Given the description of an element on the screen output the (x, y) to click on. 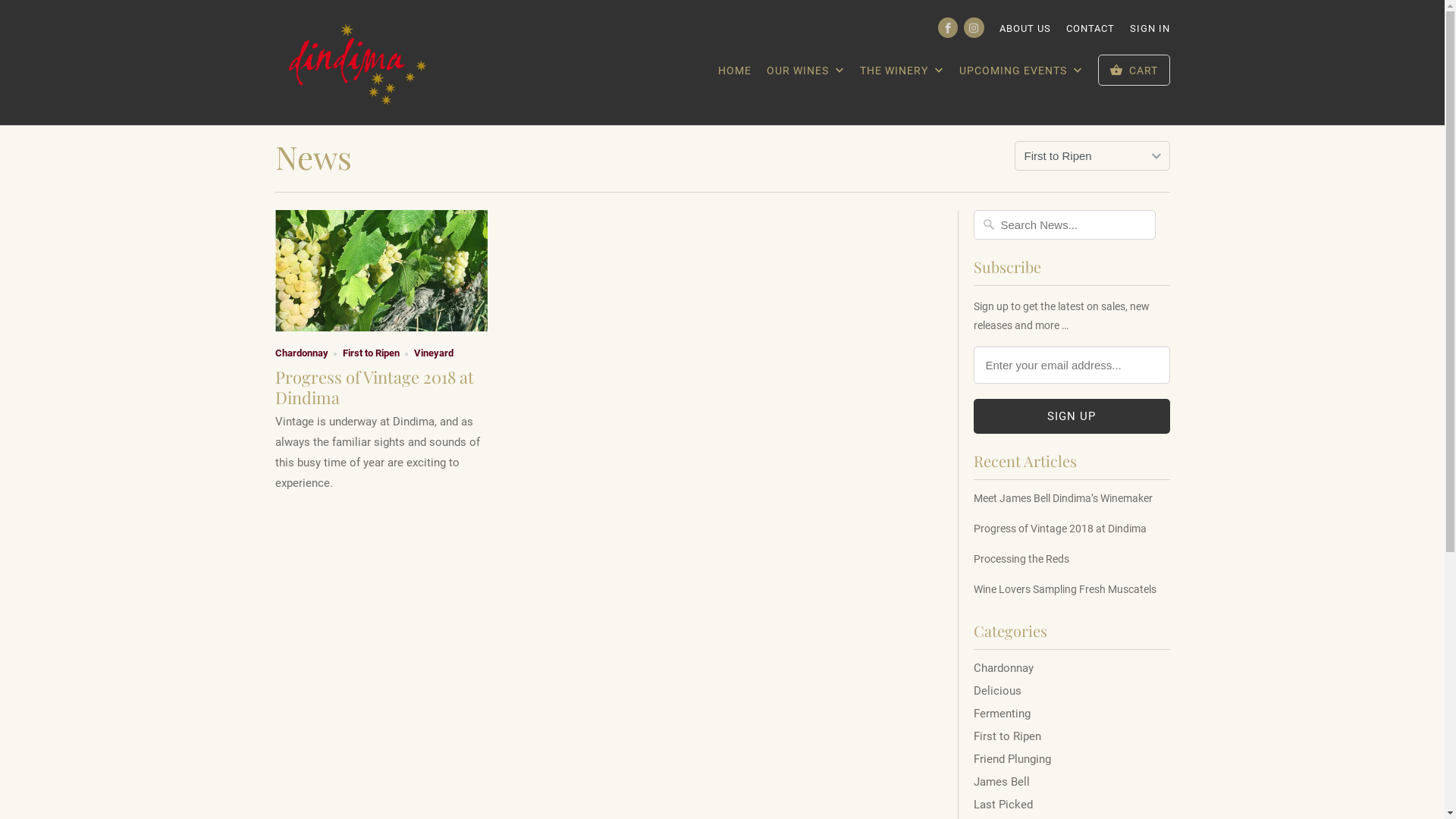
Wine Lovers Sampling Fresh Muscatels Element type: text (1071, 589)
Progress of Vintage 2018 at Dindima Element type: text (373, 386)
First to Ripen Element type: text (1007, 736)
THE WINERY Element type: text (901, 74)
Dindima Wines on Facebook Element type: hover (947, 27)
Dindima Wines on Instagram Element type: hover (973, 27)
Fermenting Element type: text (1001, 713)
CART Element type: text (1133, 69)
ABOUT US Element type: text (1025, 32)
SIGN IN Element type: text (1149, 32)
UPCOMING EVENTS Element type: text (1020, 74)
CONTACT Element type: text (1090, 32)
Sign Up Element type: text (1071, 415)
Progress of Vintage 2018 at Dindima Element type: hover (380, 270)
First to Ripen Element type: text (370, 352)
Progress of Vintage 2018 at Dindima Element type: text (1071, 528)
Processing the Reds Element type: text (1071, 558)
Last Picked Element type: text (1002, 804)
Delicious Element type: text (997, 690)
OUR WINES Element type: text (805, 74)
Chardonnay Element type: text (1003, 667)
Chardonnay Element type: text (300, 352)
Friend Plunging Element type: text (1012, 758)
Vineyard Element type: text (433, 352)
HOME Element type: text (734, 73)
News Element type: text (312, 156)
James Bell Element type: text (1001, 781)
Dindima Wines Element type: hover (353, 62)
